Given the description of an element on the screen output the (x, y) to click on. 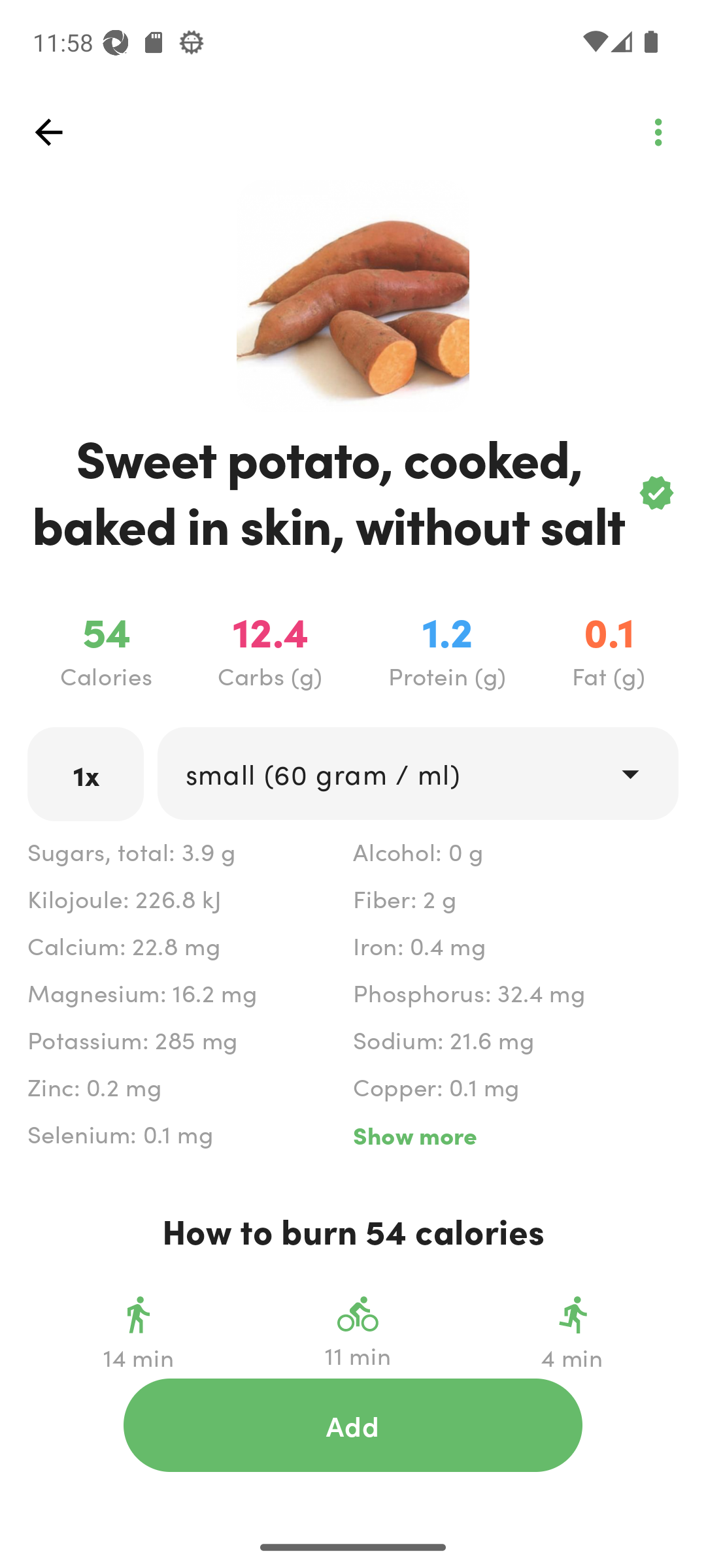
top_left_action (48, 132)
top_left_action (658, 132)
1x labeled_edit_text (85, 774)
drop_down small (60 gram / ml) (417, 773)
Show more (515, 1135)
action_button Add (352, 1425)
